Given the description of an element on the screen output the (x, y) to click on. 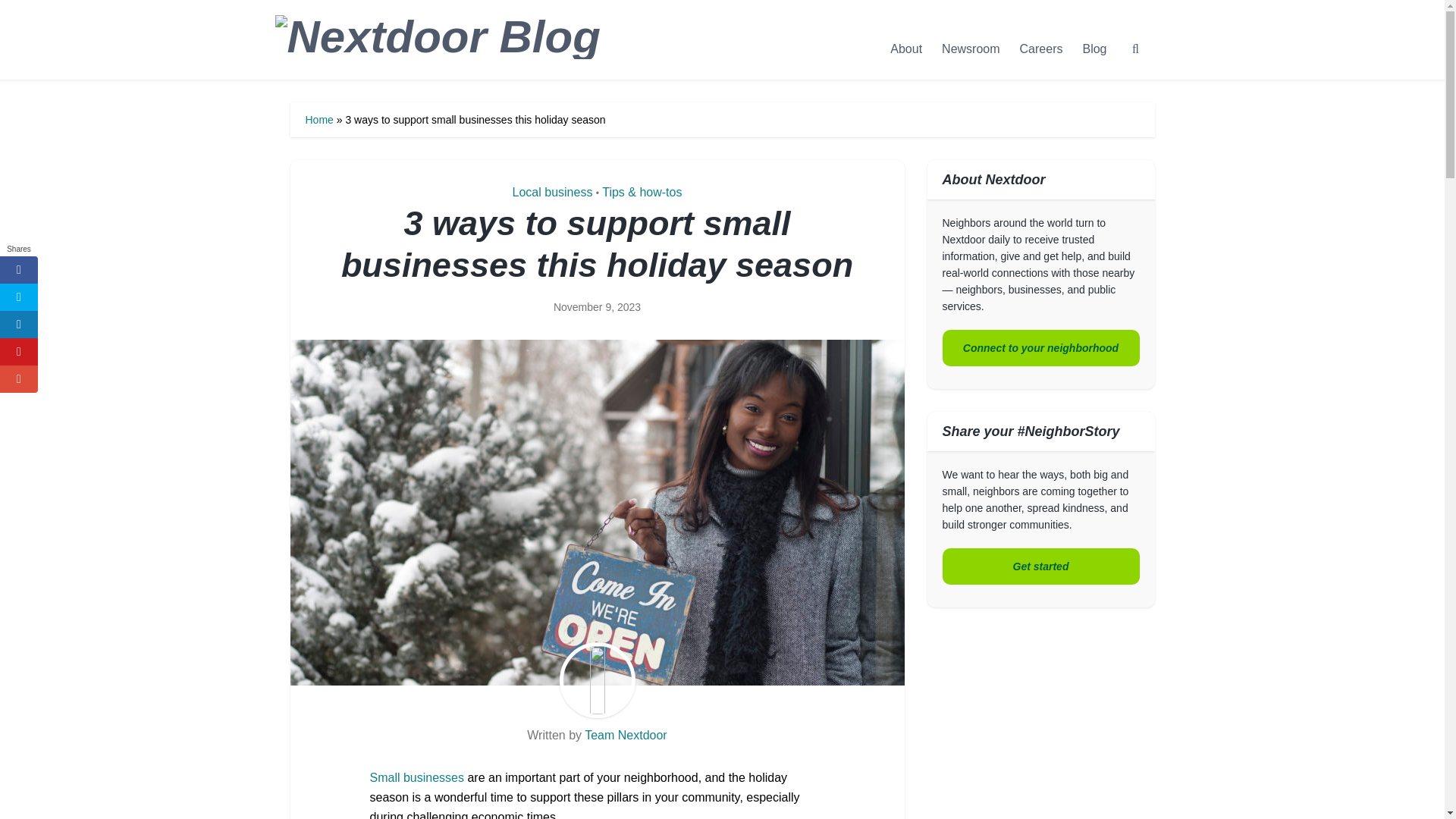
Nextdoor Blog (451, 53)
About (905, 48)
Home (318, 119)
Blog (1093, 48)
Connect to your neighborhood (1040, 348)
Small businesses (416, 777)
Newsroom (970, 48)
Careers (1041, 48)
Local business (552, 192)
Team Nextdoor (625, 735)
